Given the description of an element on the screen output the (x, y) to click on. 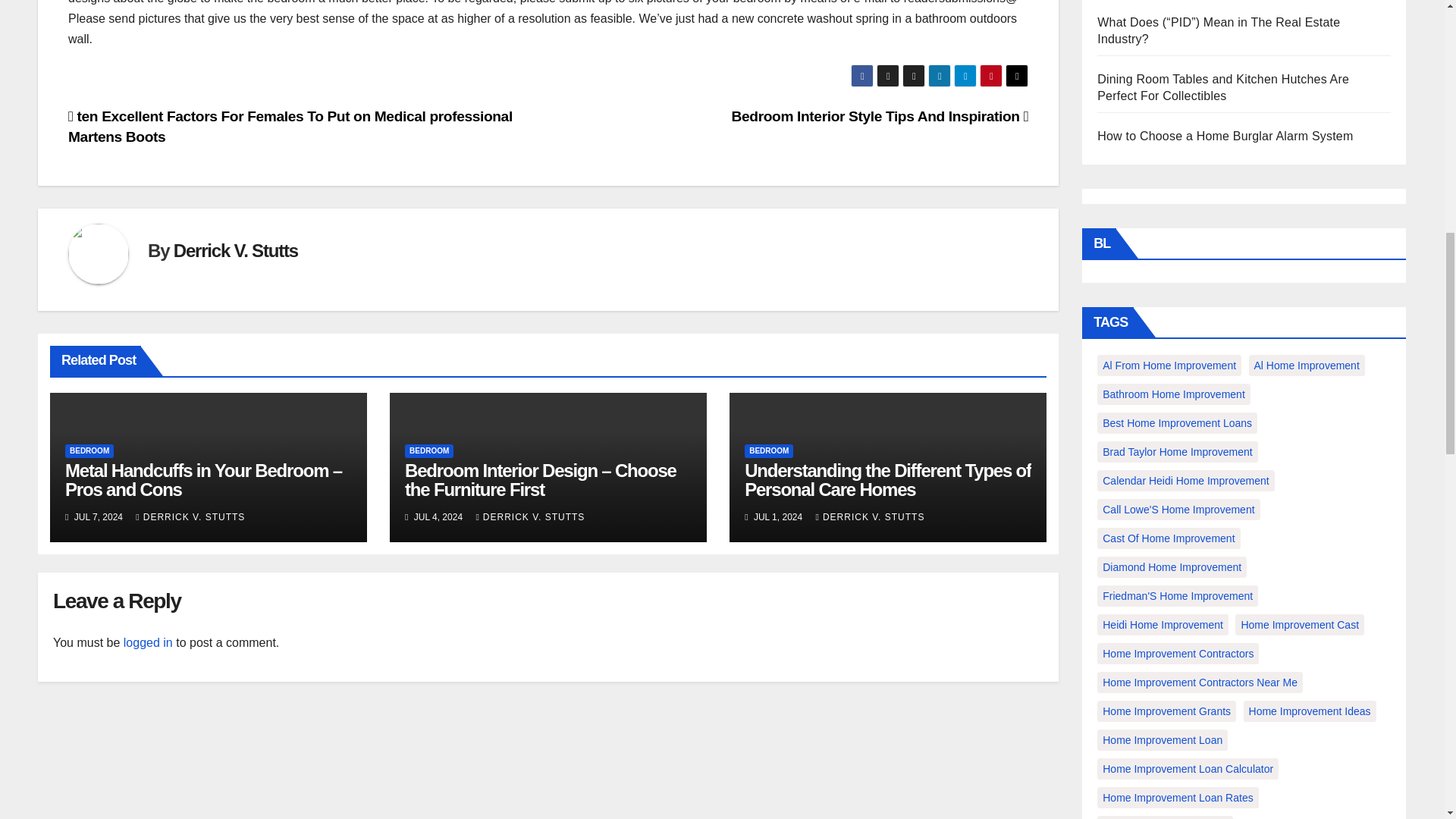
Derrick V. Stutts (235, 250)
Bedroom Interior Style Tips And Inspiration (880, 116)
